Given the description of an element on the screen output the (x, y) to click on. 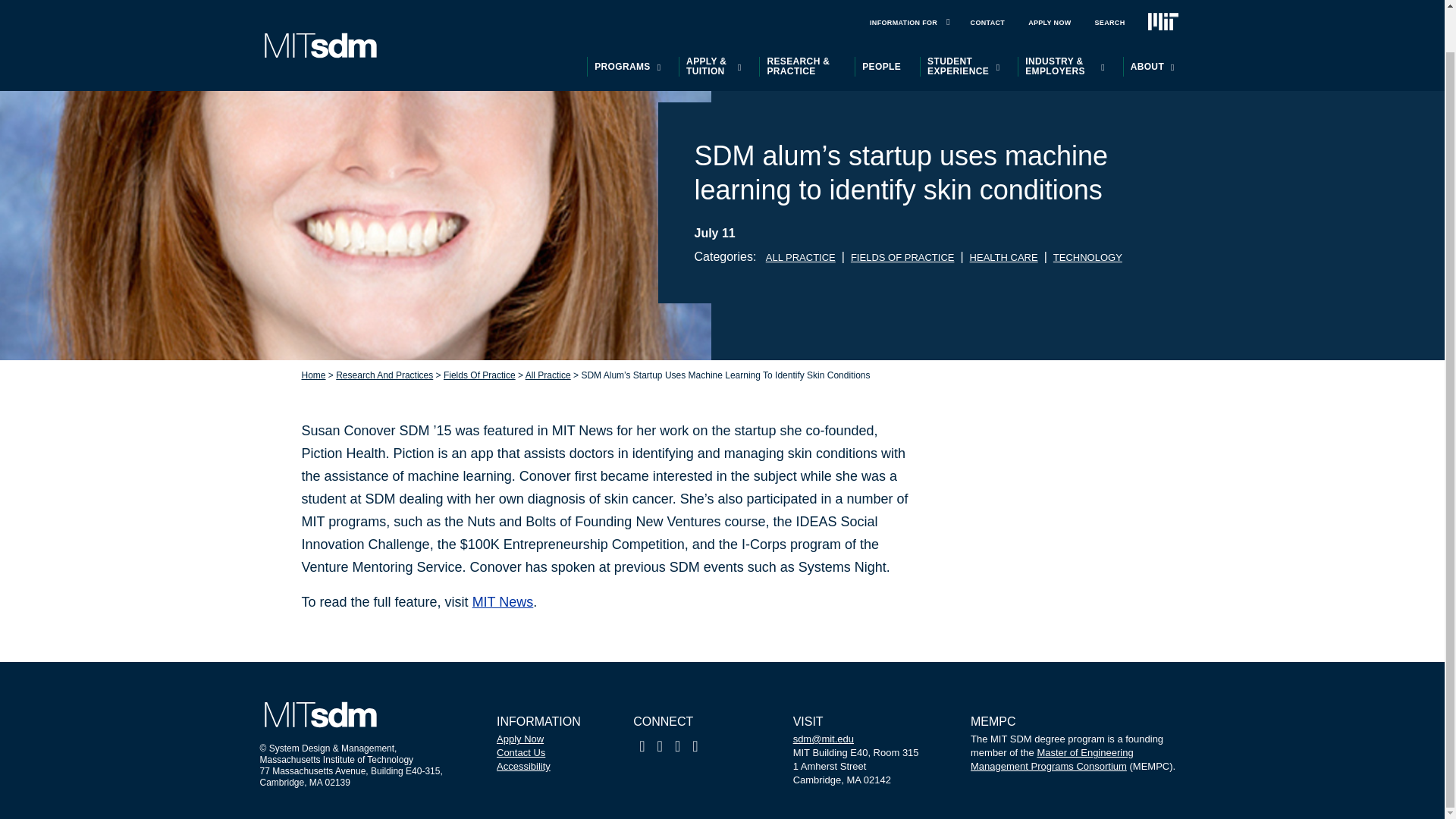
Go to MIT SDM - System Design and Management. (313, 375)
Go to the All Practice Category archives. (547, 375)
Go to Research and Practices. (384, 375)
Go to the Fields of Practice Category archives. (479, 375)
PEOPLE (881, 22)
ABOUT (1146, 22)
PROGRAMS (622, 22)
STUDENT EXPERIENCE (957, 22)
